Given the description of an element on the screen output the (x, y) to click on. 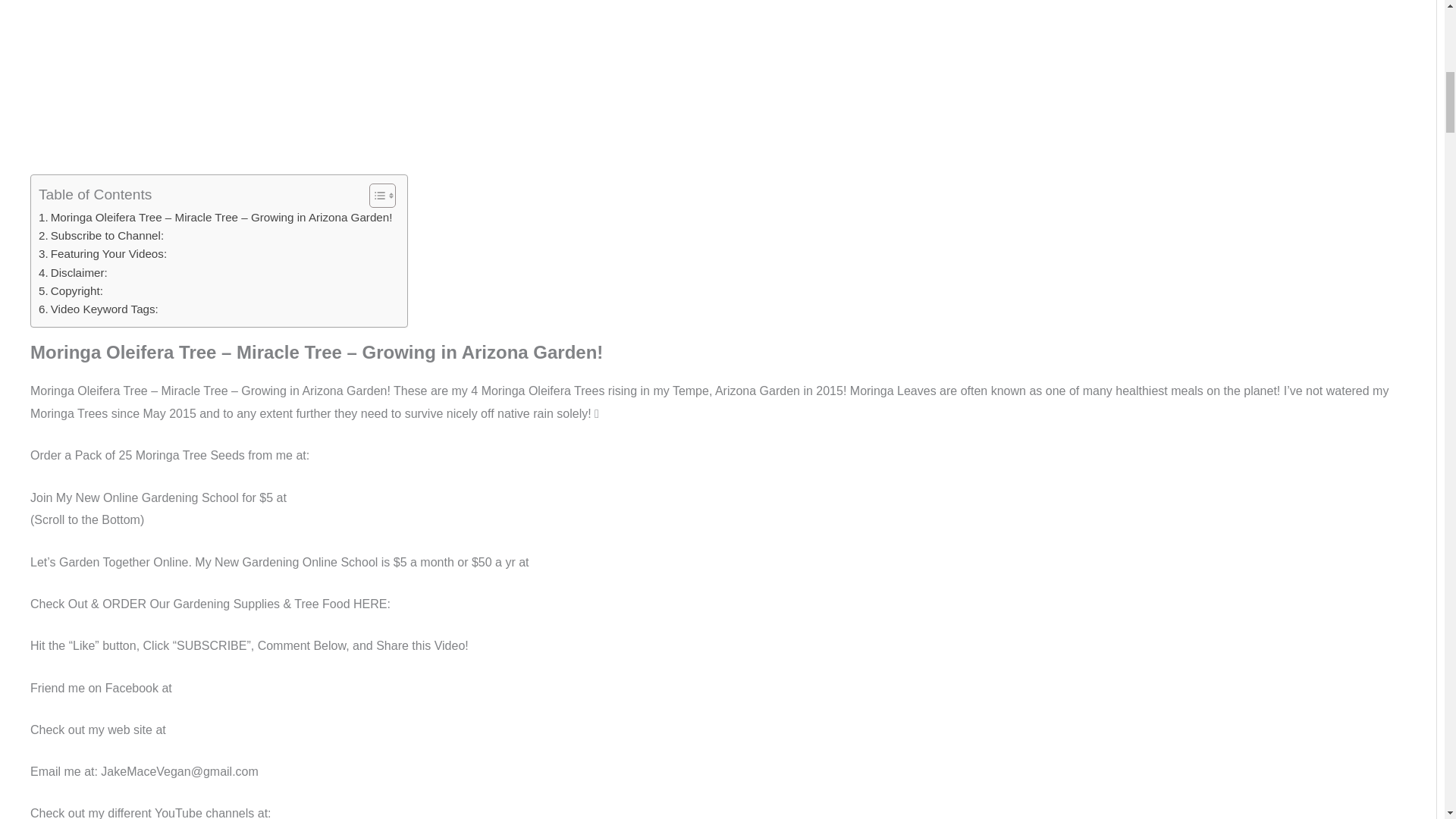
Disclaimer: (73, 272)
Subscribe to Channel: (101, 235)
Copyright: (71, 290)
Video Keyword Tags: (98, 309)
Copyright: (71, 290)
Featuring Your Videos: (103, 253)
Subscribe to Channel: (101, 235)
Video Keyword Tags: (98, 309)
Featuring Your Videos: (103, 253)
Disclaimer: (73, 272)
